Given the description of an element on the screen output the (x, y) to click on. 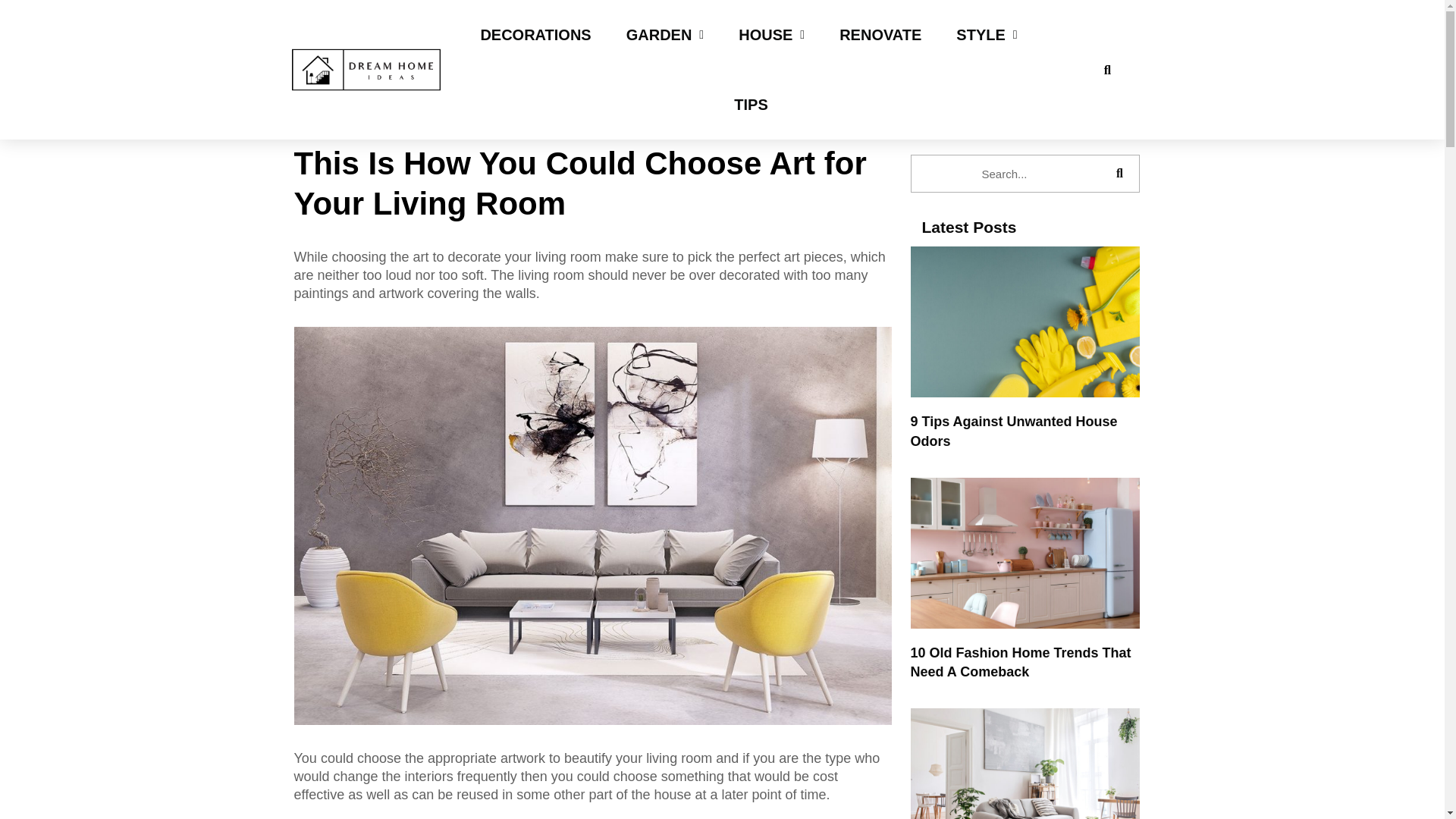
HOUSE (771, 34)
TIPS (751, 104)
Search (1005, 173)
STYLE (986, 34)
RENOVATE (880, 34)
GARDEN (665, 34)
Search (1119, 173)
DECORATIONS (534, 34)
